Given the description of an element on the screen output the (x, y) to click on. 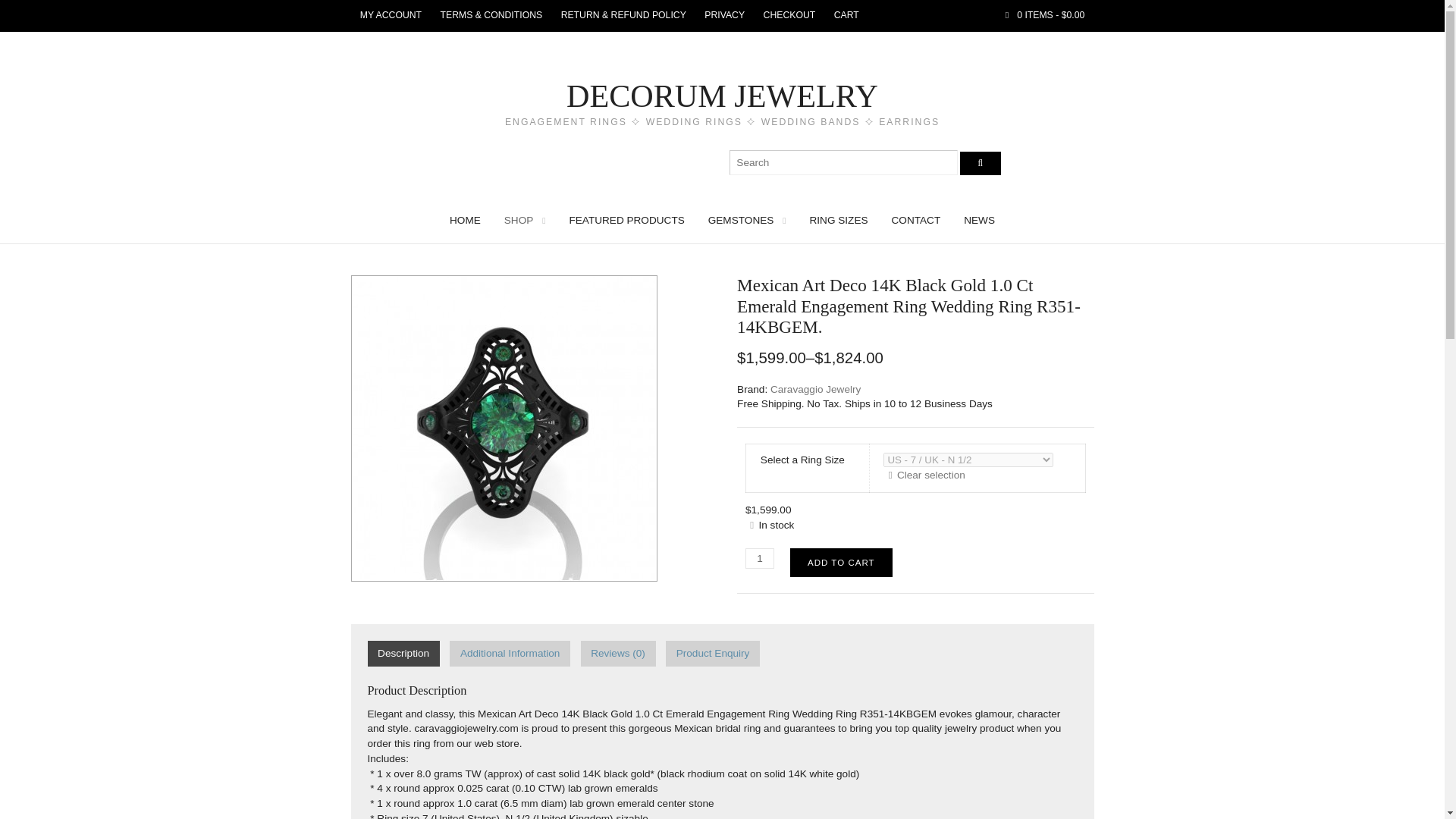
MY ACCOUNT (390, 15)
View your shopping cart (1044, 15)
SHOP (524, 220)
CART (845, 15)
DECORUM JEWELRY (721, 95)
PRIVACY (724, 15)
1 (759, 557)
Caravaggio Jewelry (815, 389)
CHECKOUT (789, 15)
Search (980, 163)
Qty (759, 557)
HOME (464, 220)
